Given the description of an element on the screen output the (x, y) to click on. 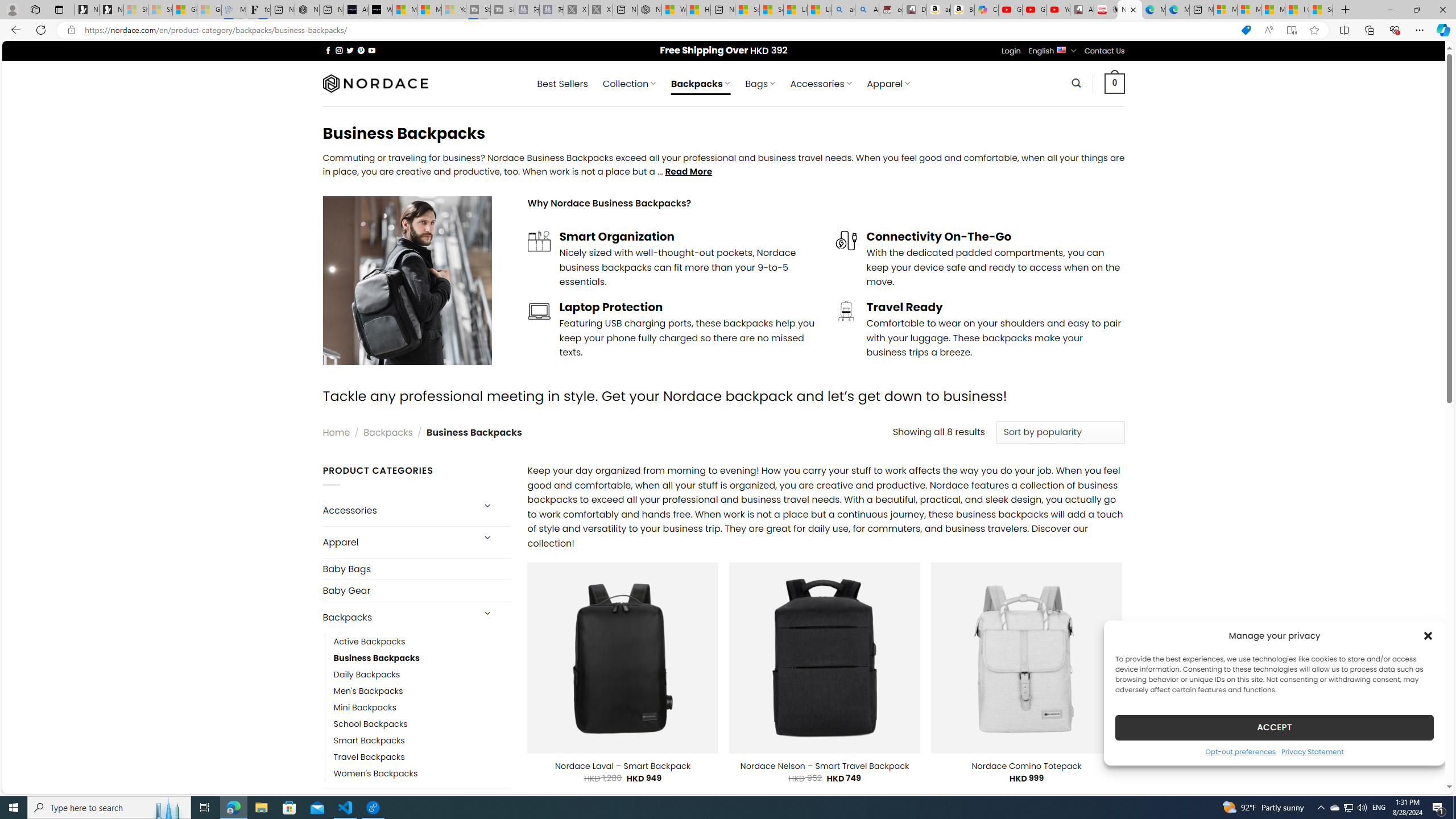
Travel Backpacks (368, 756)
Women's Backpacks (375, 773)
ACCEPT (1274, 727)
Enter Immersive Reader (F9) (1291, 29)
Shop order (1060, 432)
